Given the description of an element on the screen output the (x, y) to click on. 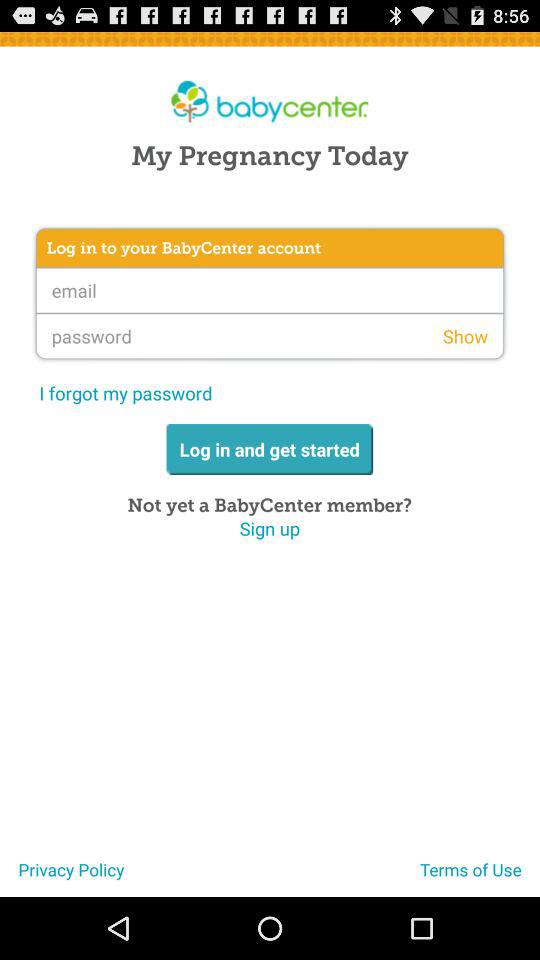
enter password (270, 335)
